Given the description of an element on the screen output the (x, y) to click on. 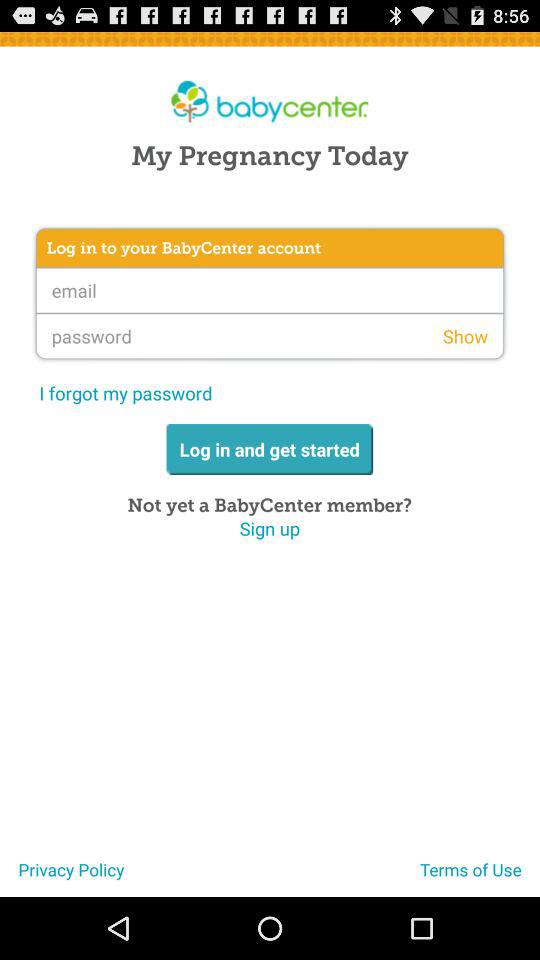
enter password (270, 335)
